Given the description of an element on the screen output the (x, y) to click on. 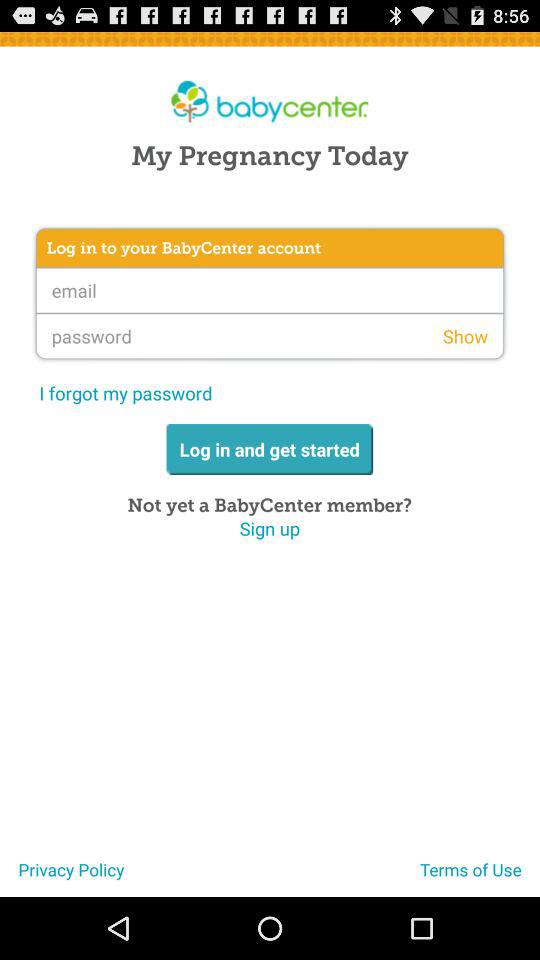
enter password (270, 335)
